Given the description of an element on the screen output the (x, y) to click on. 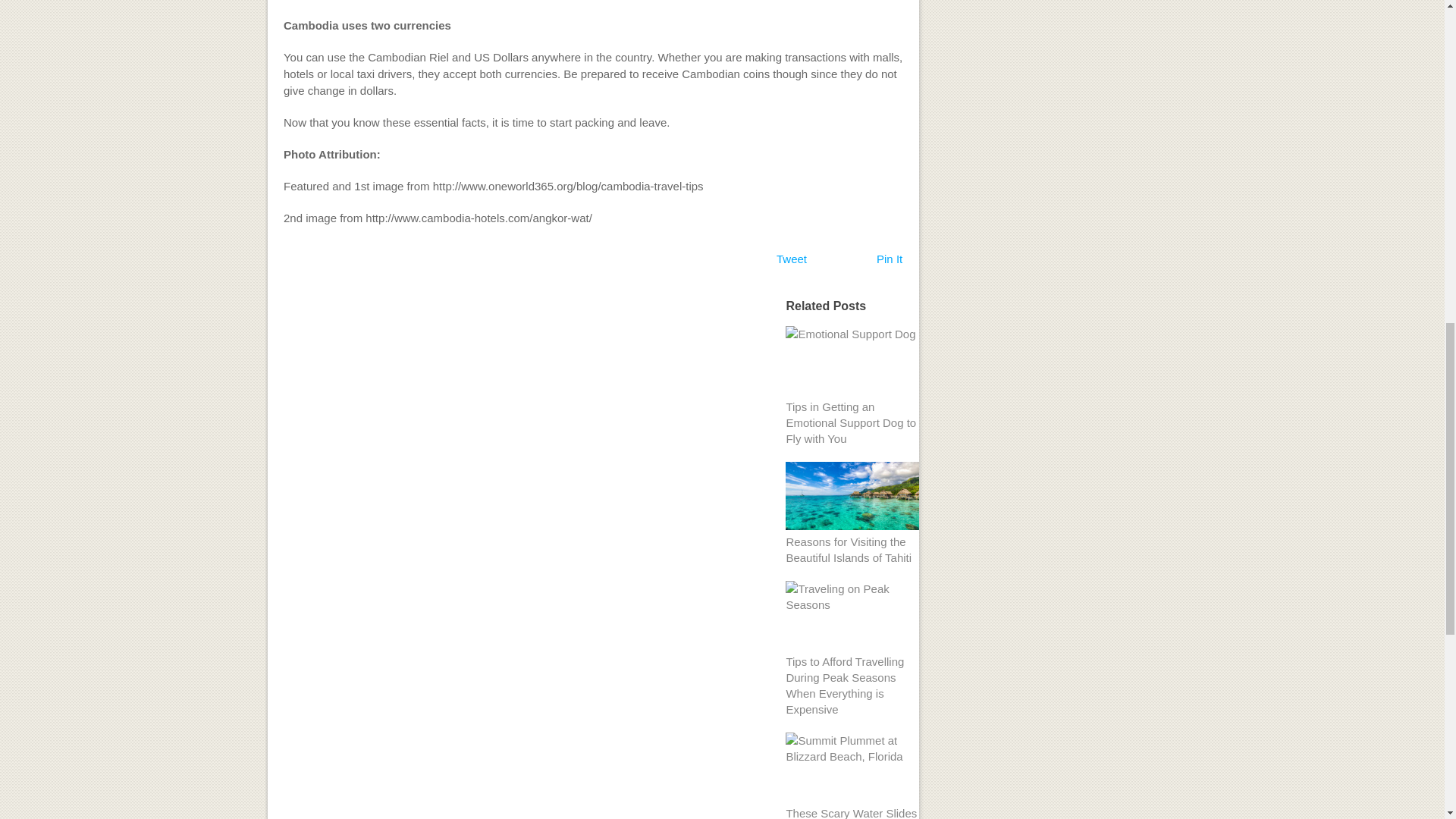
Reasons for Visiting the Beautiful Islands of Tahiti (848, 549)
Tips in Getting an Emotional Support Dog to Fly with You (850, 422)
Reasons for Visiting the Beautiful Islands of Tahiti (848, 549)
Pin It (889, 258)
Tips in Getting an Emotional Support Dog to Fly with You (850, 422)
Tweet (791, 258)
